Given the description of an element on the screen output the (x, y) to click on. 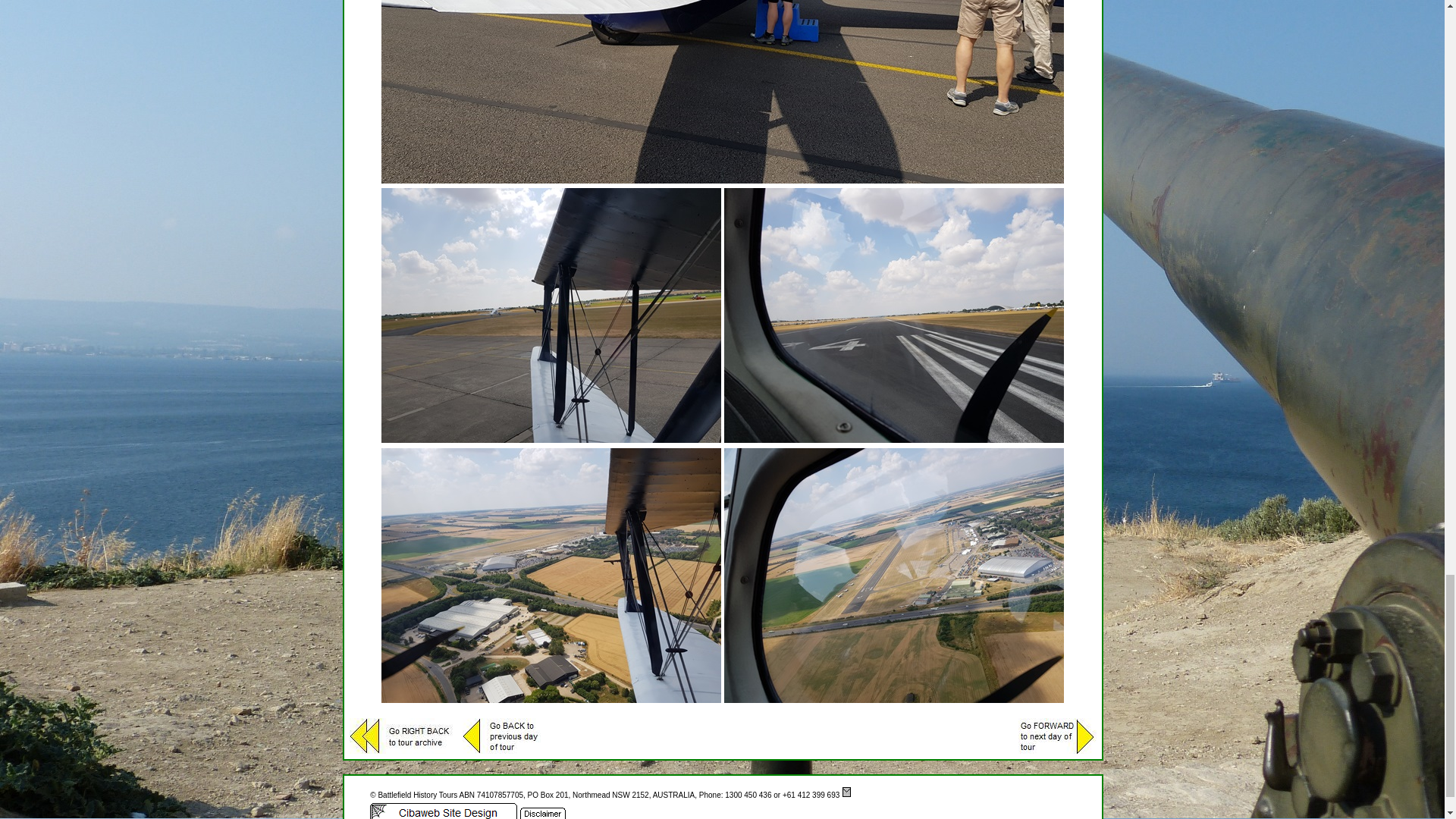
Back to Previous Day of Tour (501, 735)
RAAF in the UK Tour 2018 (722, 91)
RAAF in the UK Tour 2018 (550, 315)
RAAF in the UK Tour 2018 (893, 574)
RAAF in the UK Tour 2018 (550, 574)
Right Back to Tour Archive (401, 735)
RAAF in the UK Tour 2018 (893, 315)
On to the next day of the tour (1056, 735)
